Given the description of an element on the screen output the (x, y) to click on. 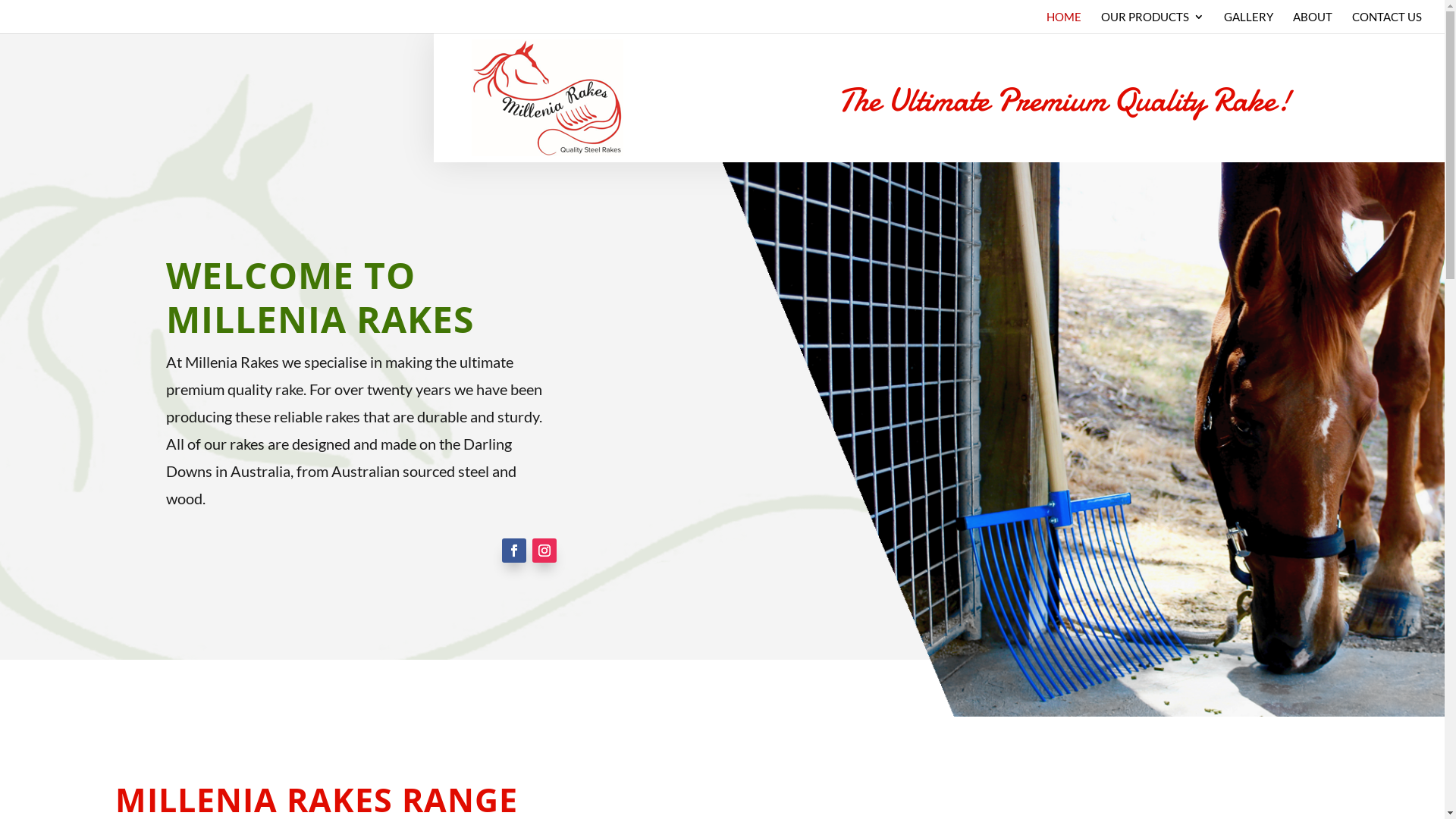
OUR PRODUCTS Element type: text (1152, 22)
Follow on Instagram Element type: hover (544, 550)
Follow on Facebook Element type: hover (514, 550)
CONTACT US Element type: text (1386, 22)
HOME Element type: text (1063, 22)
GALLERY Element type: text (1248, 22)
ABOUT Element type: text (1312, 22)
